Given the description of an element on the screen output the (x, y) to click on. 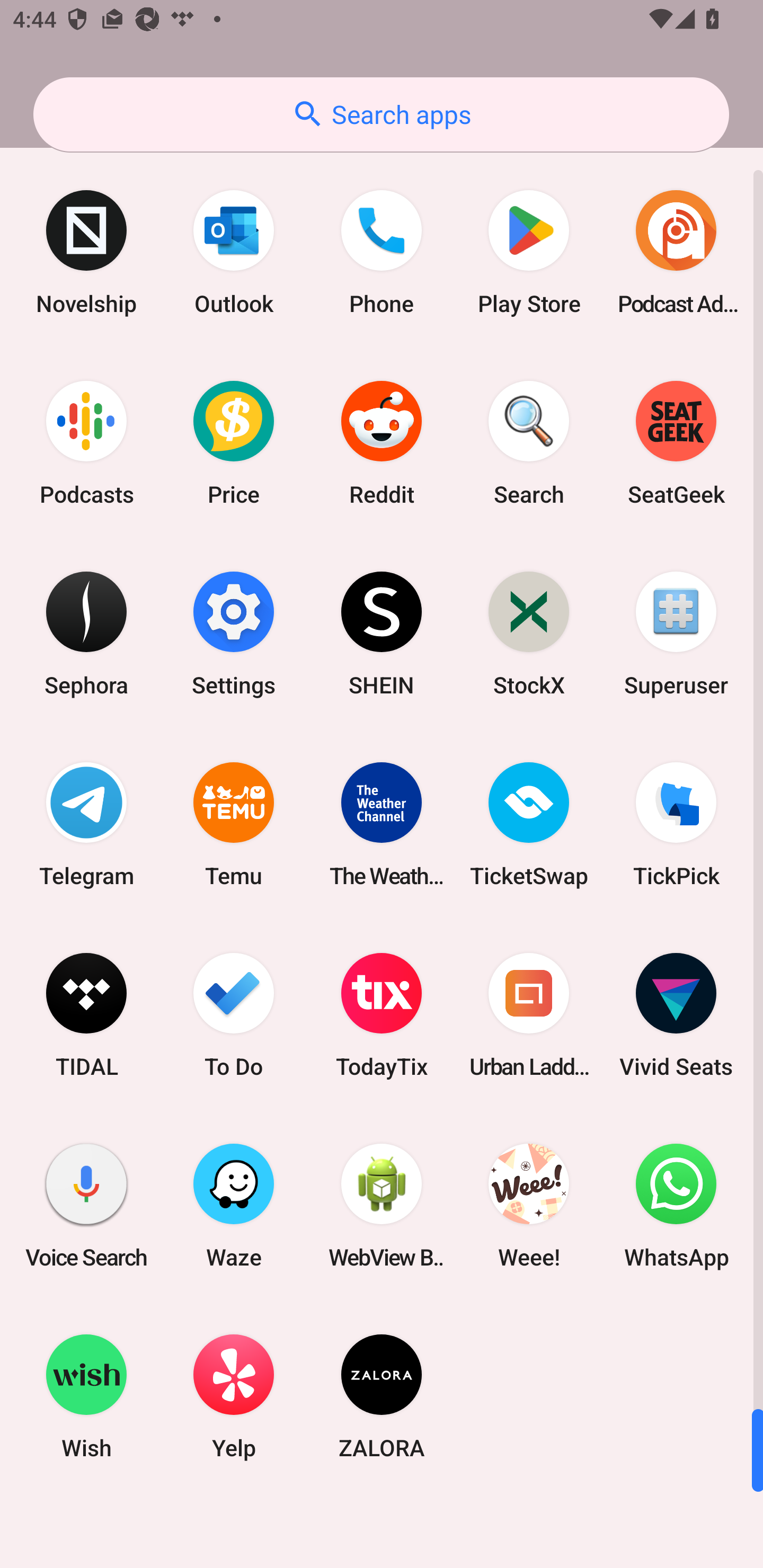
Yelp (233, 1396)
